Given the description of an element on the screen output the (x, y) to click on. 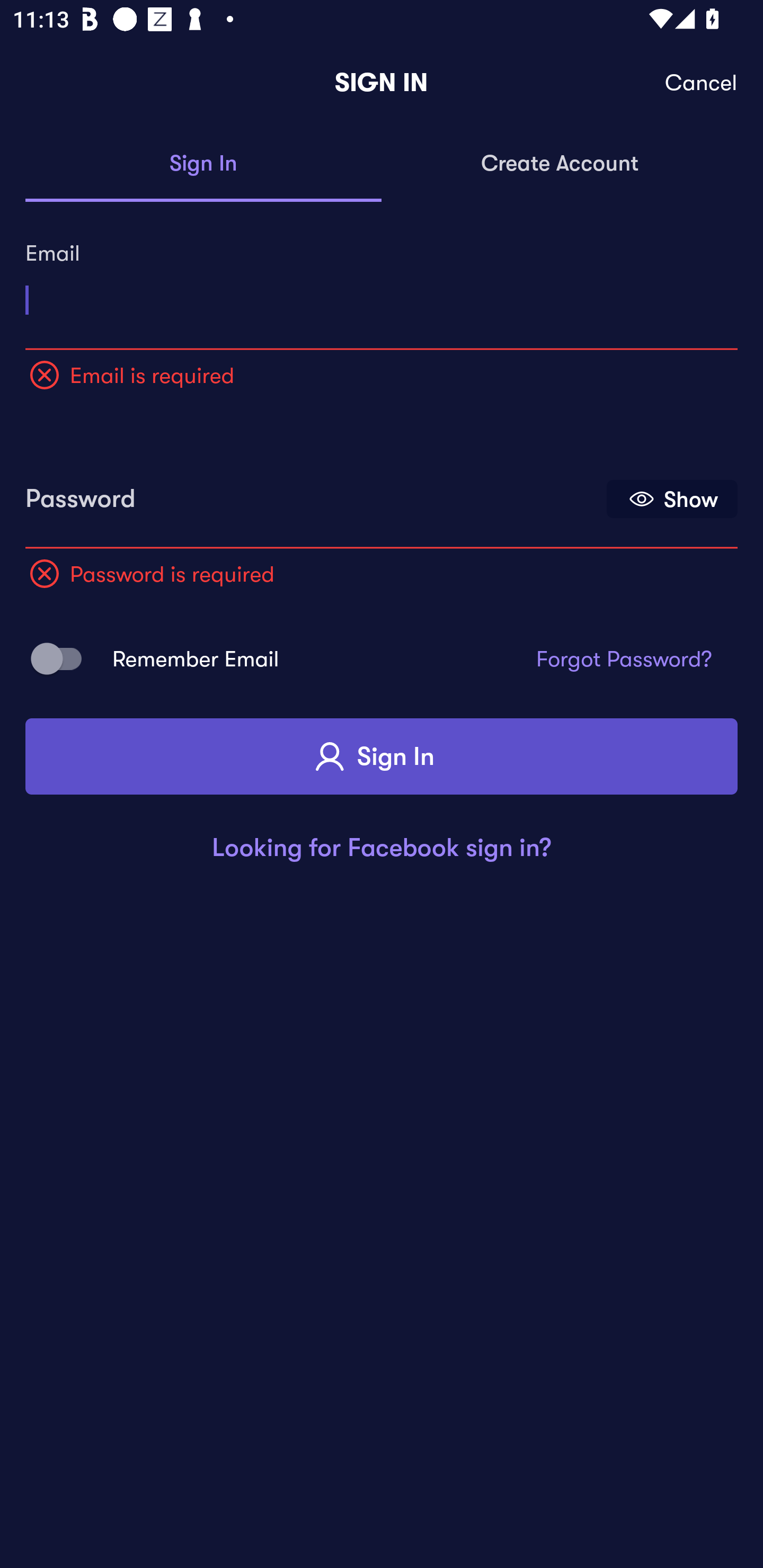
Cancel (701, 82)
Sign In (203, 164)
Create Account (559, 164)
Email, error message, Email is required (381, 293)
Password, error message, Password is required (314, 493)
Show Password Show (671, 498)
Remember Email (62, 658)
Sign In (381, 756)
